Given the description of an element on the screen output the (x, y) to click on. 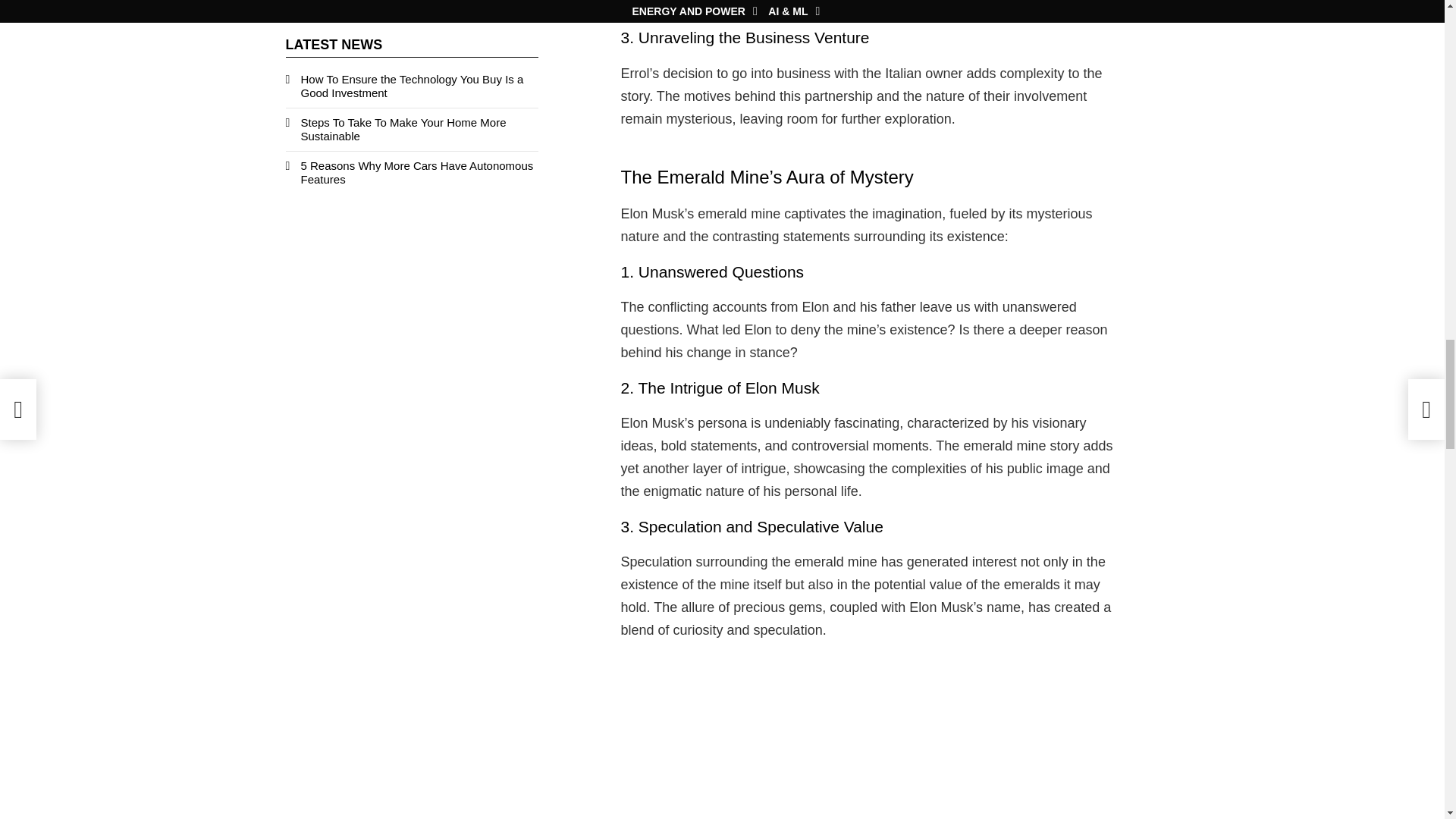
Advertisement (870, 737)
